Given the description of an element on the screen output the (x, y) to click on. 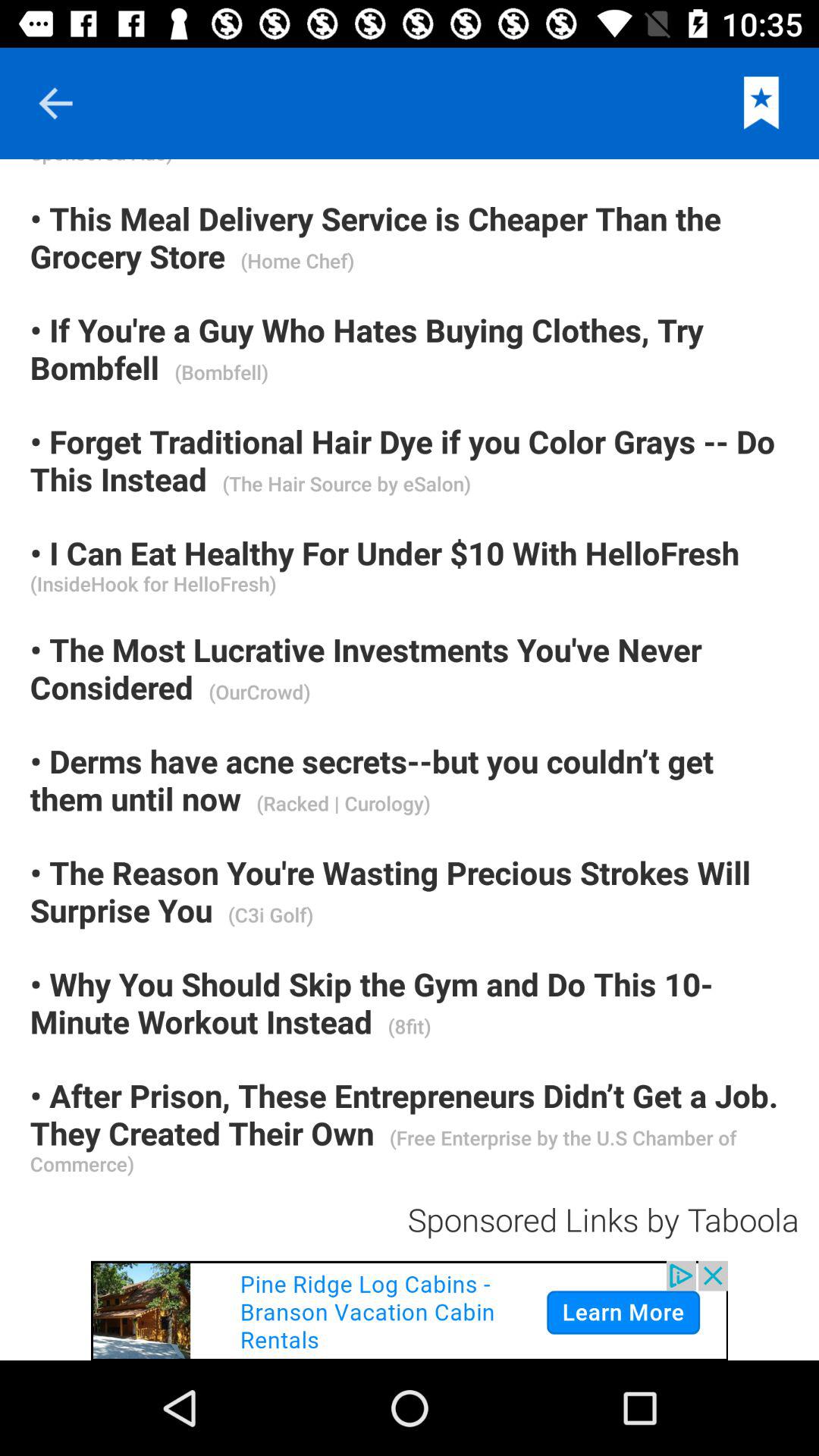
bookmark page (761, 102)
